Given the description of an element on the screen output the (x, y) to click on. 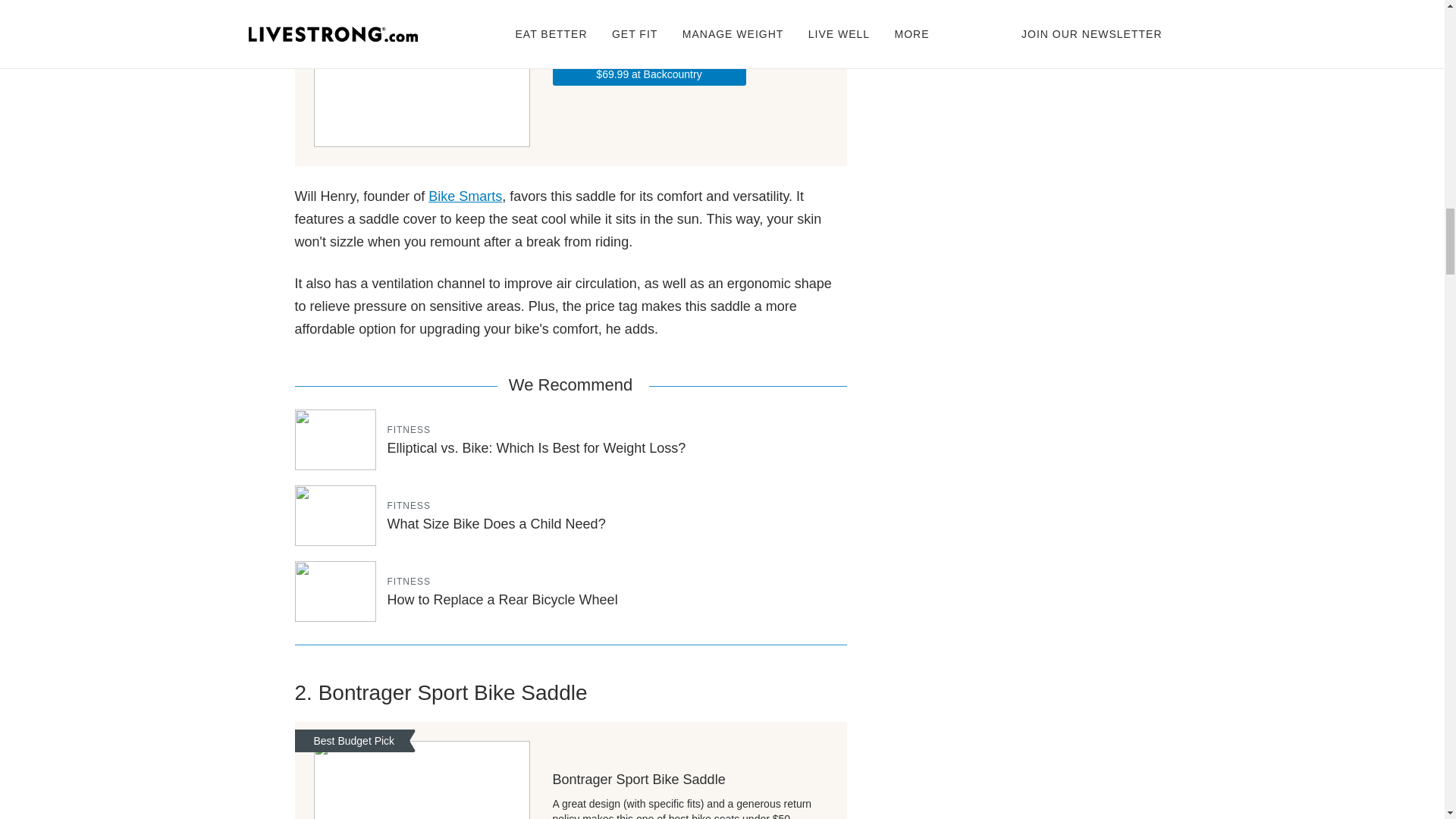
Bontrager Sport Bike Saddle (421, 780)
Selle Royal Respiro Athletic Bike Saddle (648, 73)
Bontrager Sport Bike Saddle (689, 779)
Selle Royal Respiro Athletic Bike Saddle (689, 6)
Selle Royal Respiro Athletic Bike Saddle (421, 73)
